Given the description of an element on the screen output the (x, y) to click on. 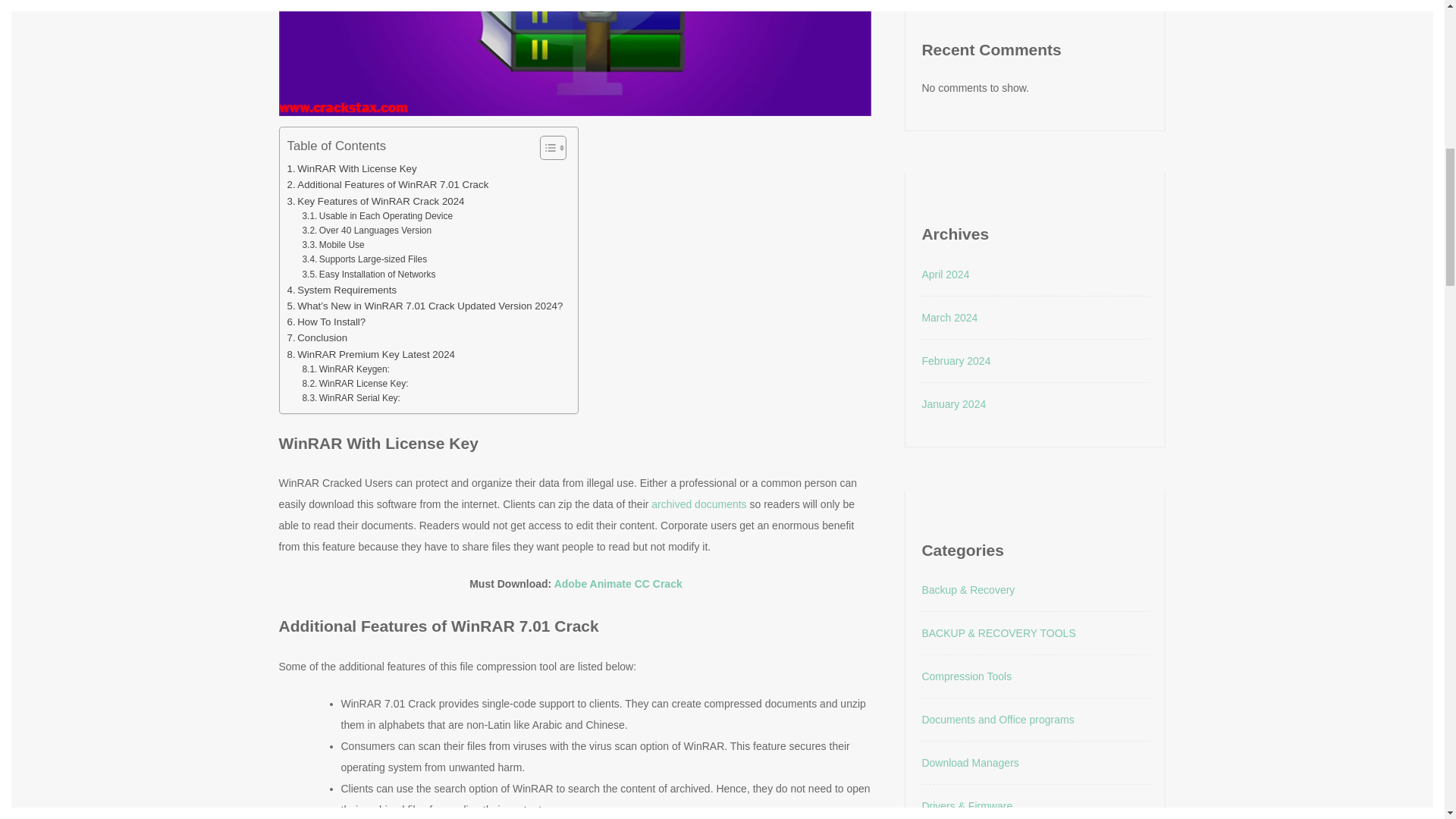
Over 40 Languages Version (365, 230)
Supports Large-sized Files (363, 259)
System Requirements (341, 289)
Easy Installation of Networks (368, 273)
WinRAR License Key: (354, 383)
WinRAR Keygen: (345, 369)
WinRAR Premium Key Latest 2024 (370, 354)
WinRAR Premium Key Latest 2024 (370, 354)
Easy Installation of Networks (368, 273)
Supports Large-sized Files (363, 259)
System Requirements (341, 289)
WinRAR Serial Key: (349, 398)
WinRAR Serial Key: (349, 398)
WinRAR With License Key (351, 168)
archived documents (697, 503)
